Given the description of an element on the screen output the (x, y) to click on. 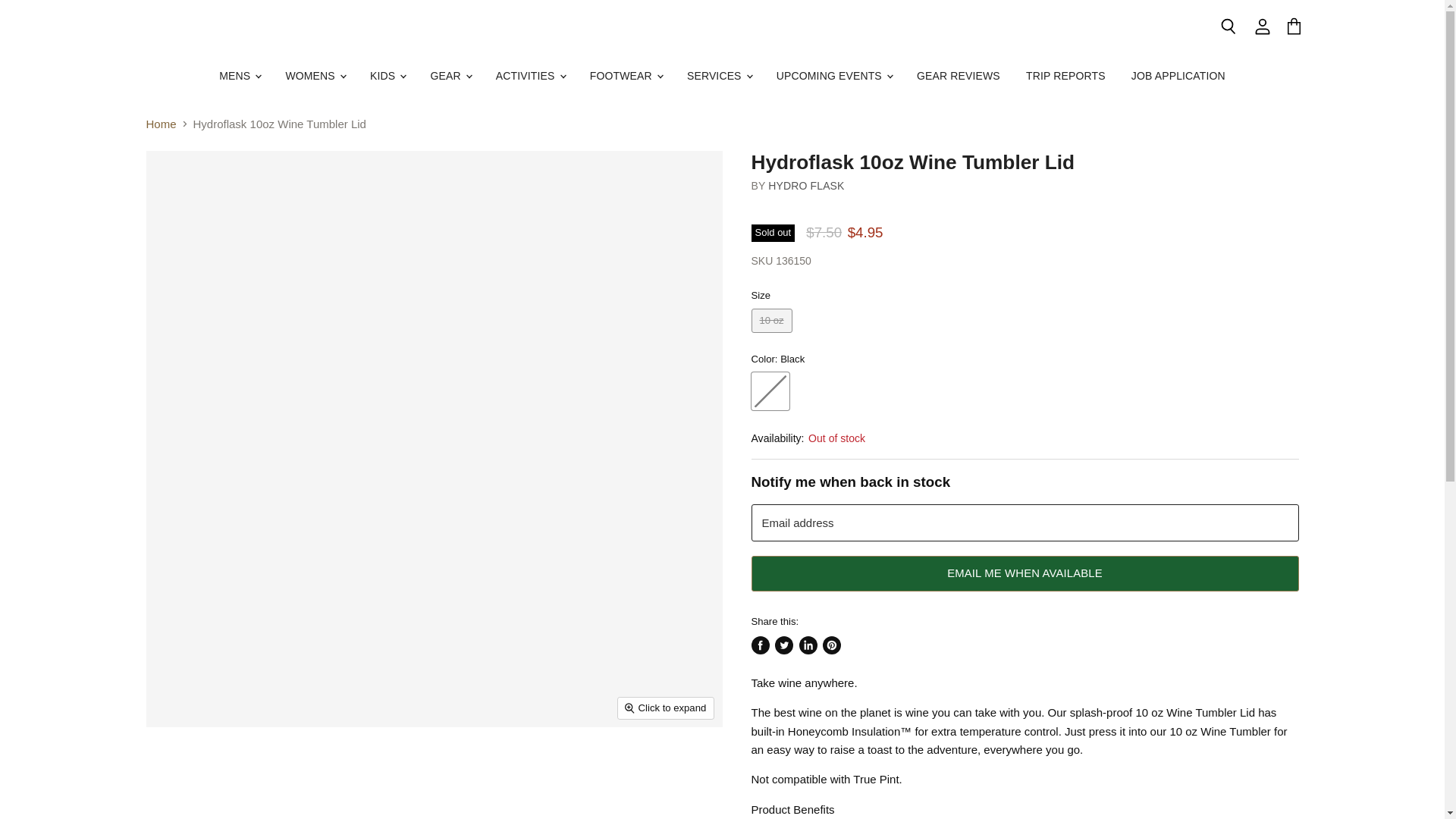
Hydro Flask (806, 185)
MENS (239, 75)
View account (1262, 27)
Search (1227, 27)
